Given the description of an element on the screen output the (x, y) to click on. 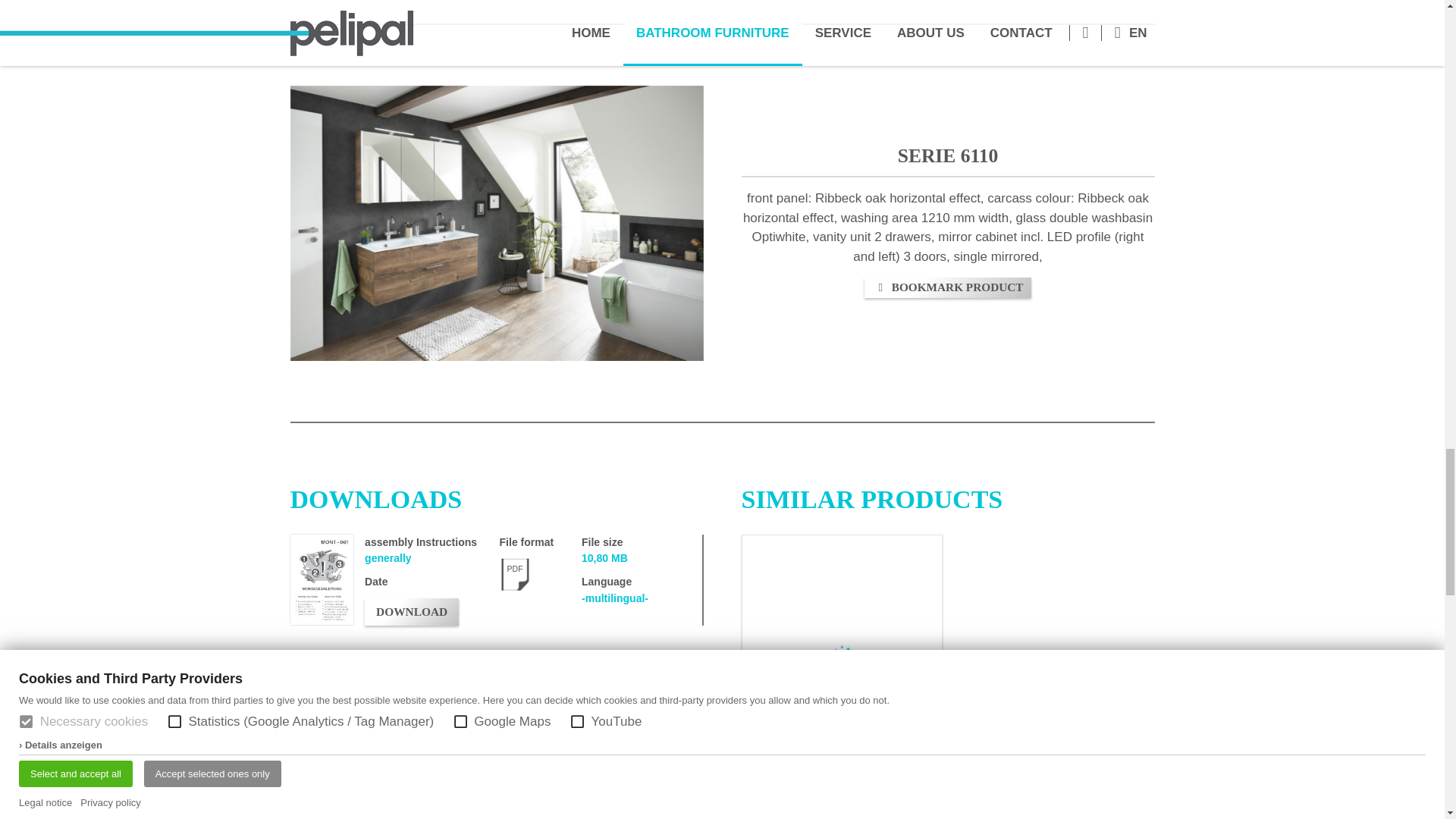
BOOKMARK PRODUCT (947, 287)
